Given the description of an element on the screen output the (x, y) to click on. 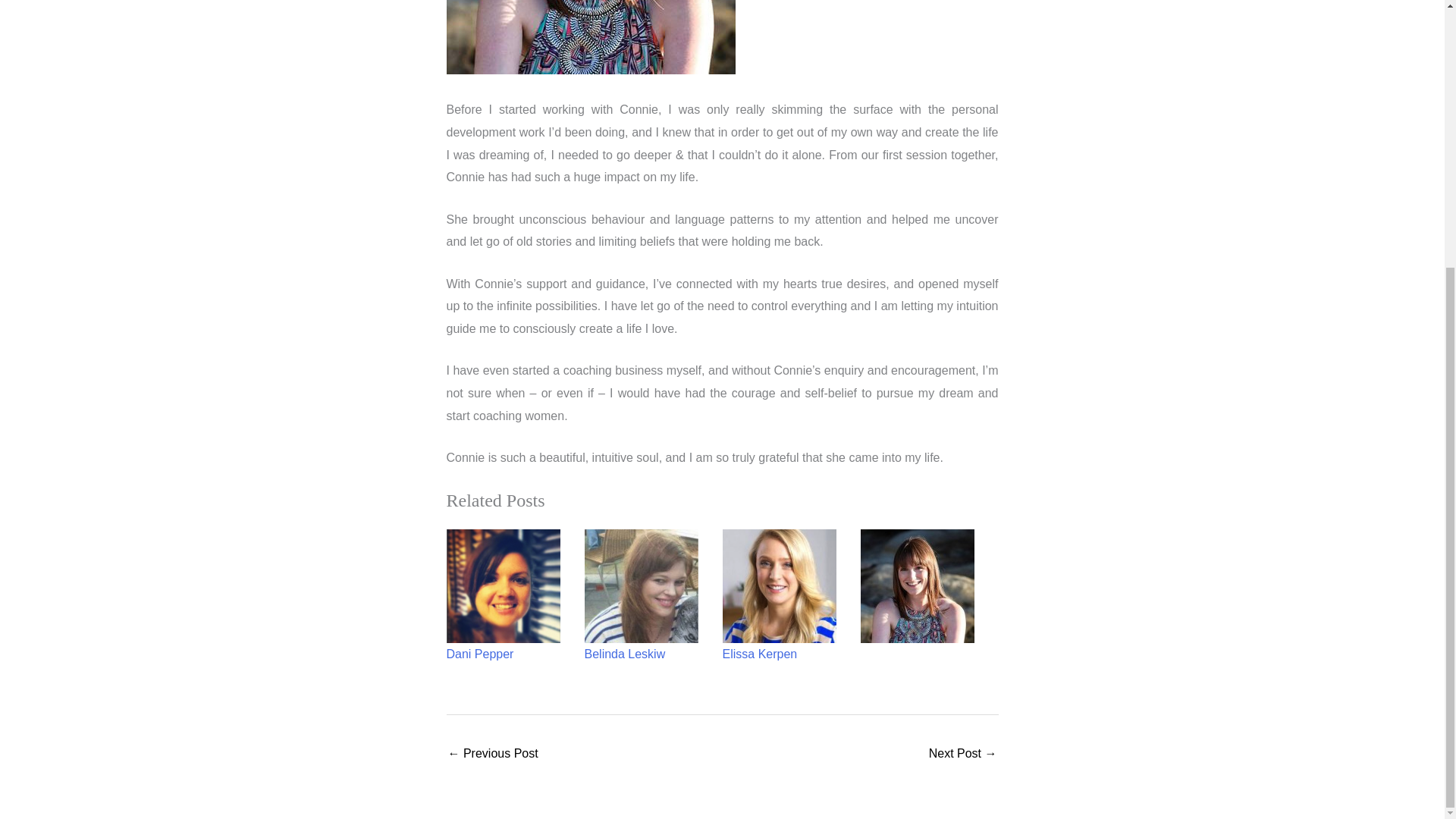
Alicia Niven (962, 755)
Maria Calderon (491, 755)
Belinda Leskiw (624, 653)
Dani Pepper (479, 653)
Elissa Kerpen (759, 653)
